Given the description of an element on the screen output the (x, y) to click on. 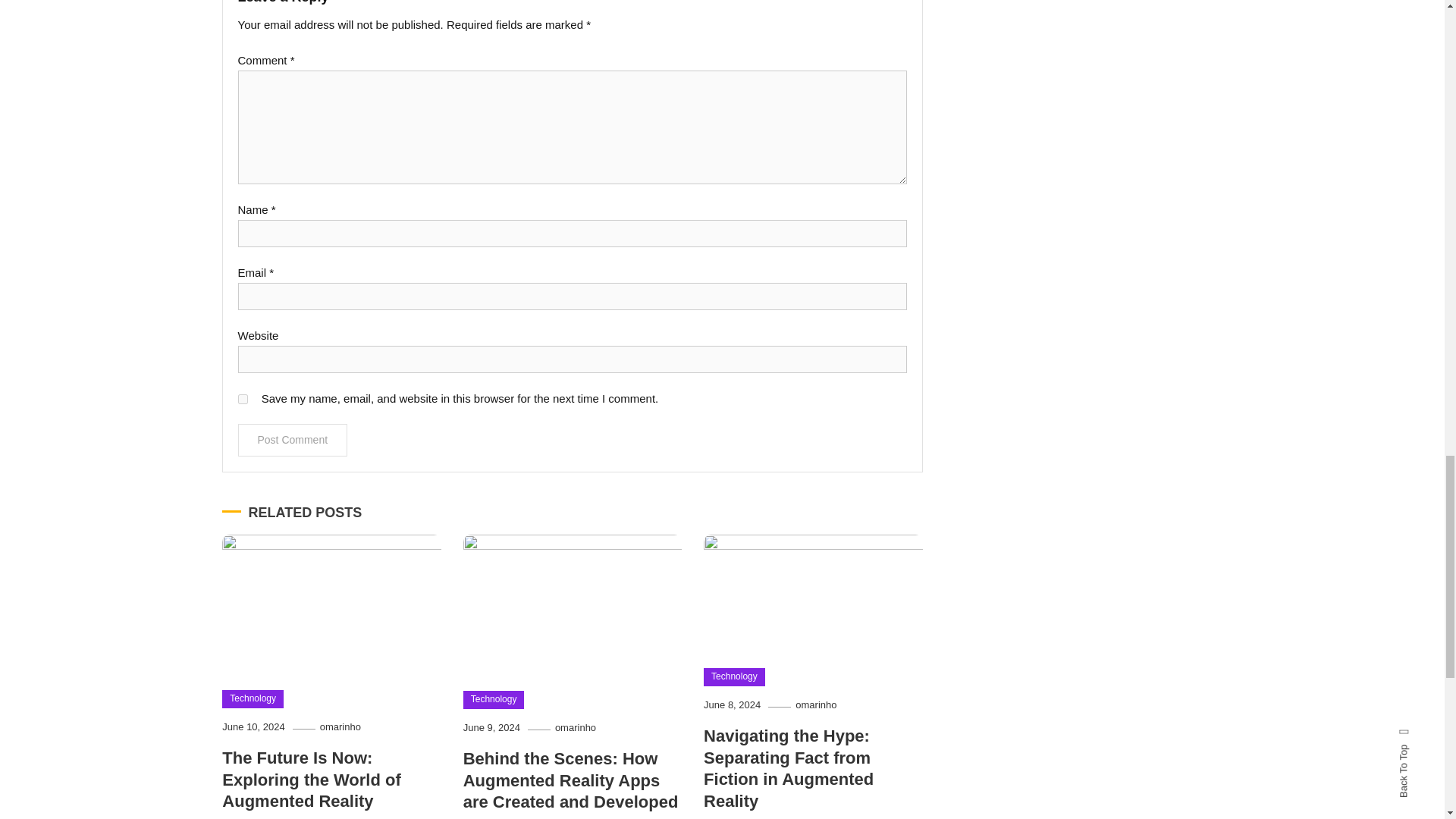
Post Comment (292, 440)
June 10, 2024 (252, 726)
omarinho (340, 726)
Post Comment (292, 440)
Technology (734, 677)
omarinho (814, 704)
Technology (252, 699)
omarinho (574, 727)
June 9, 2024 (491, 727)
